Given the description of an element on the screen output the (x, y) to click on. 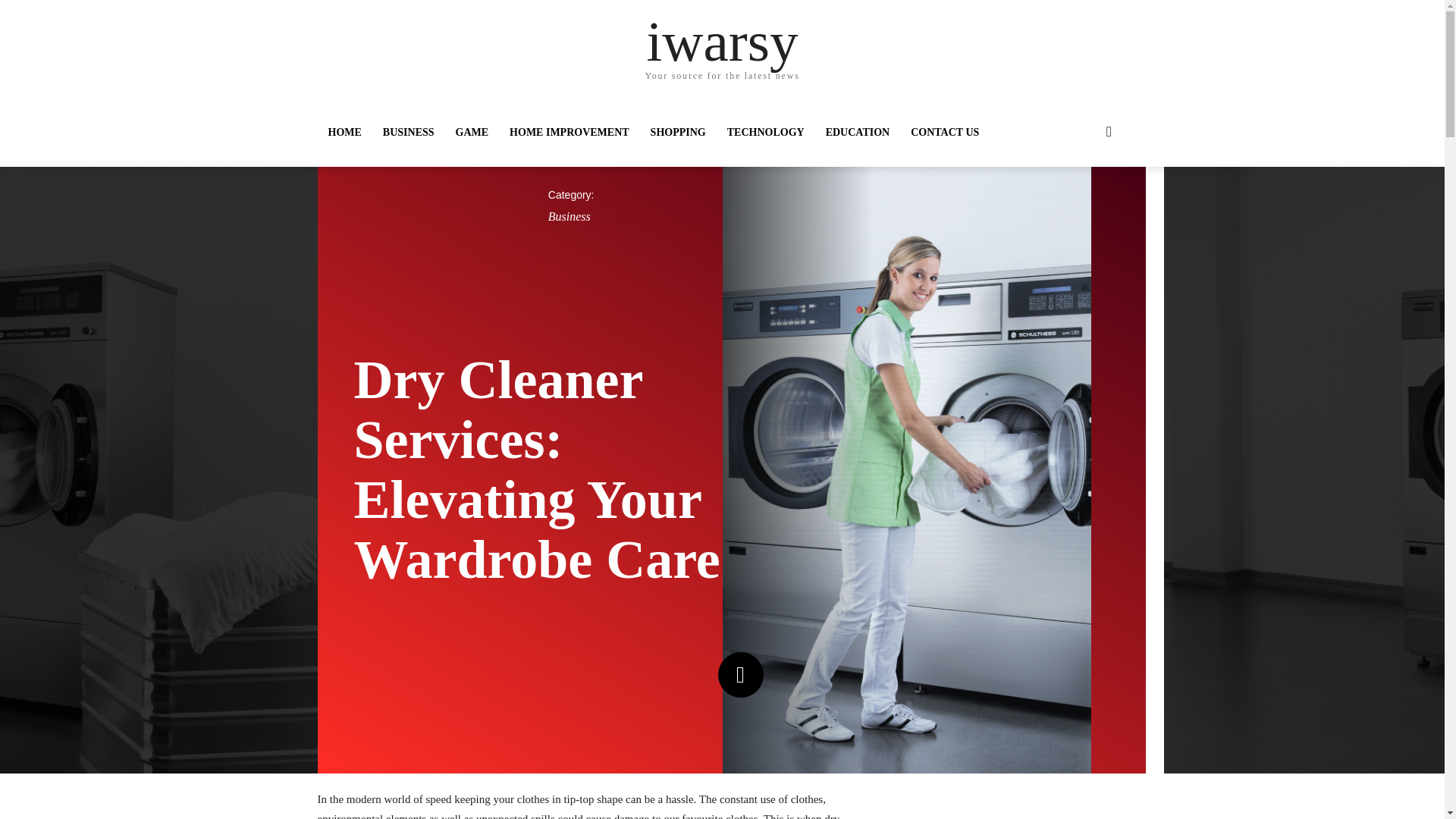
iwarsy (721, 41)
EDUCATION (858, 132)
BUSINESS (408, 132)
Business (569, 216)
CONTACT US (944, 132)
HOME IMPROVEMENT (569, 132)
TECHNOLOGY (765, 132)
Search (1085, 192)
SHOPPING (678, 132)
